Given the description of an element on the screen output the (x, y) to click on. 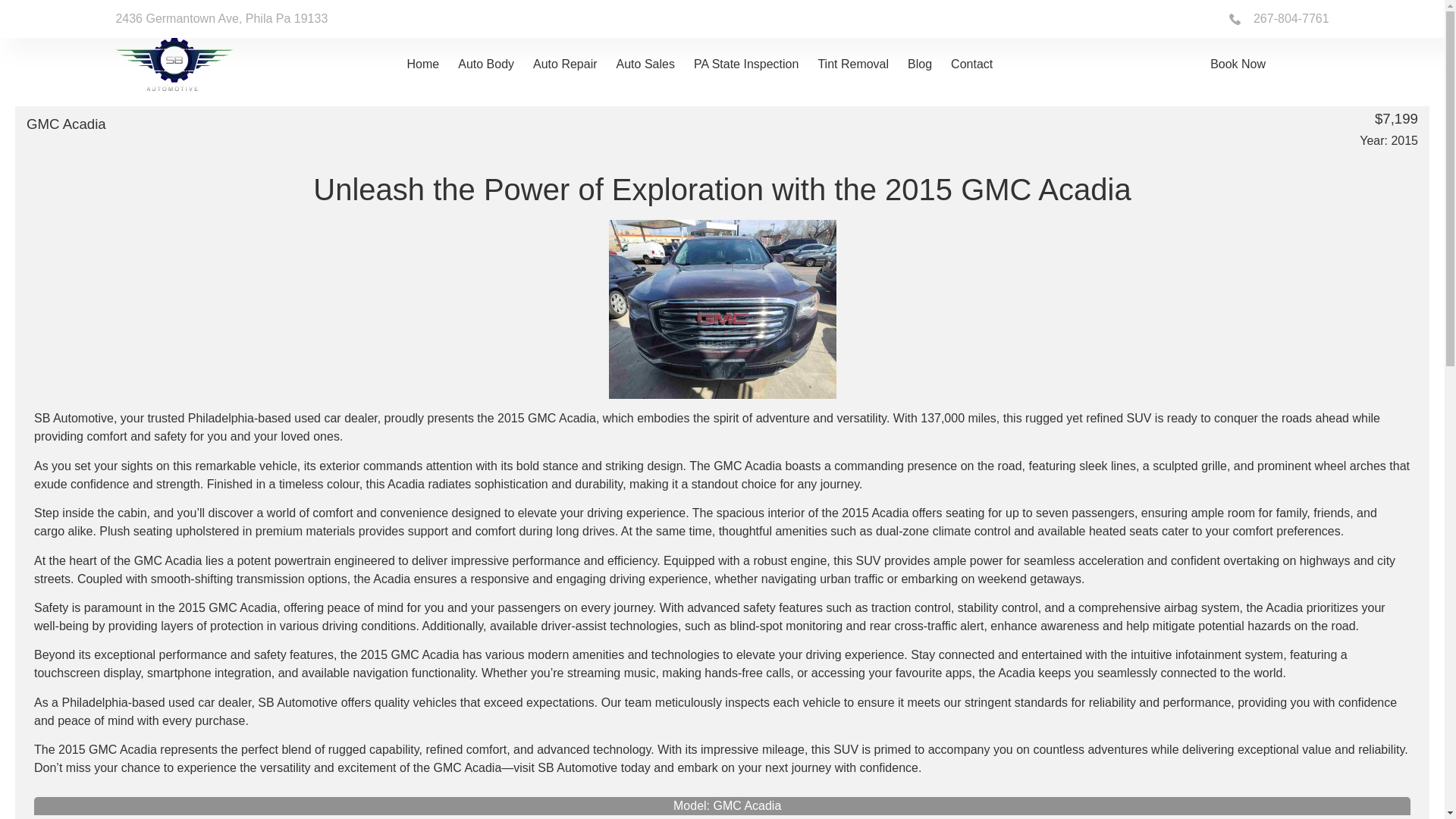
Auto Body (485, 64)
Auto Sales (645, 64)
Tint Removal (852, 64)
267-804-7761 (1277, 18)
Contact (971, 64)
PA State Inspection (745, 64)
Home (423, 64)
Auto Repair (564, 64)
Book Now (1238, 63)
Blog (919, 64)
